Given the description of an element on the screen output the (x, y) to click on. 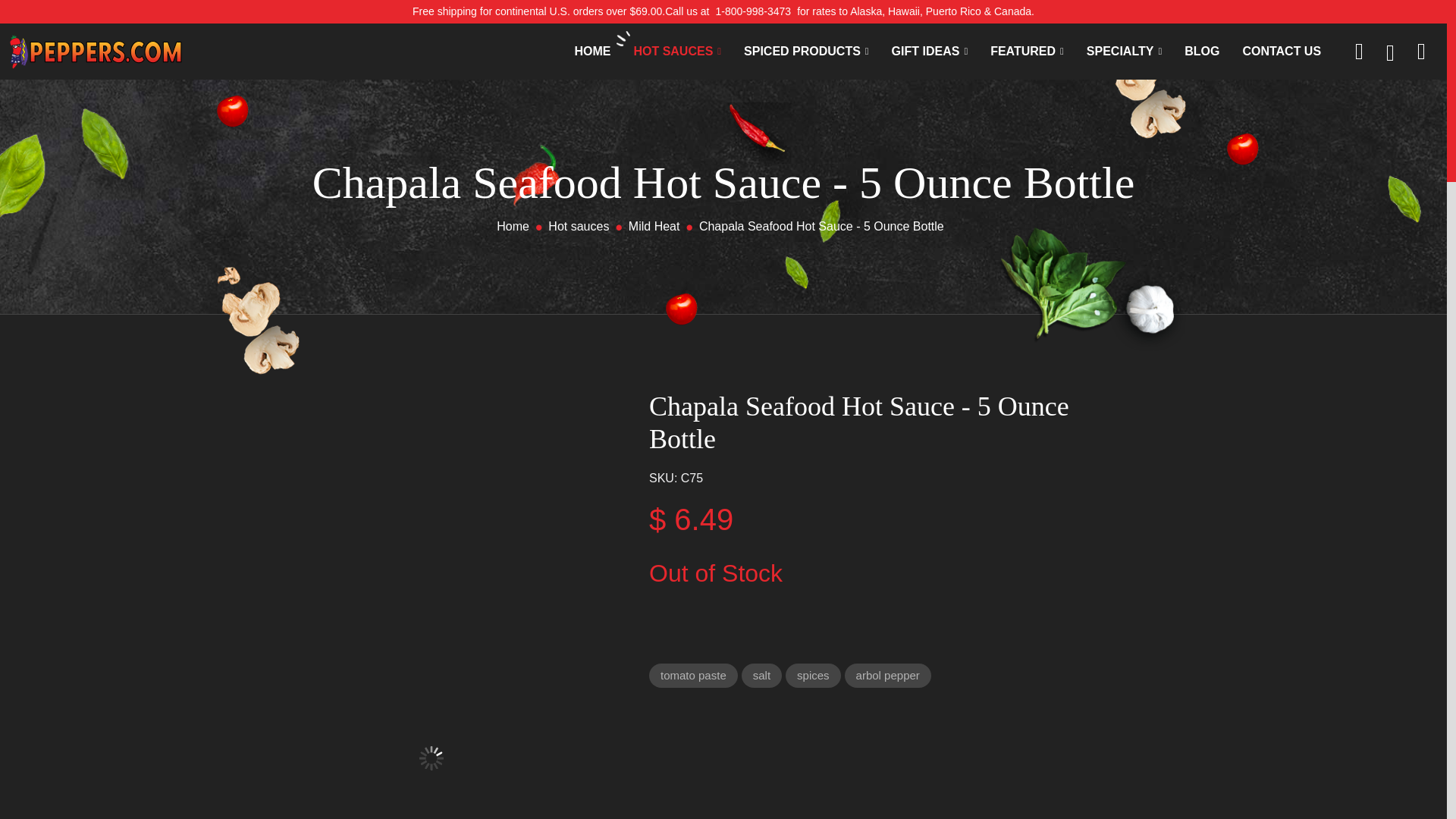
SPICED PRODUCTS (806, 51)
HOT SAUCES (676, 51)
HOME (591, 51)
1-800-998-3473 (752, 10)
